Given the description of an element on the screen output the (x, y) to click on. 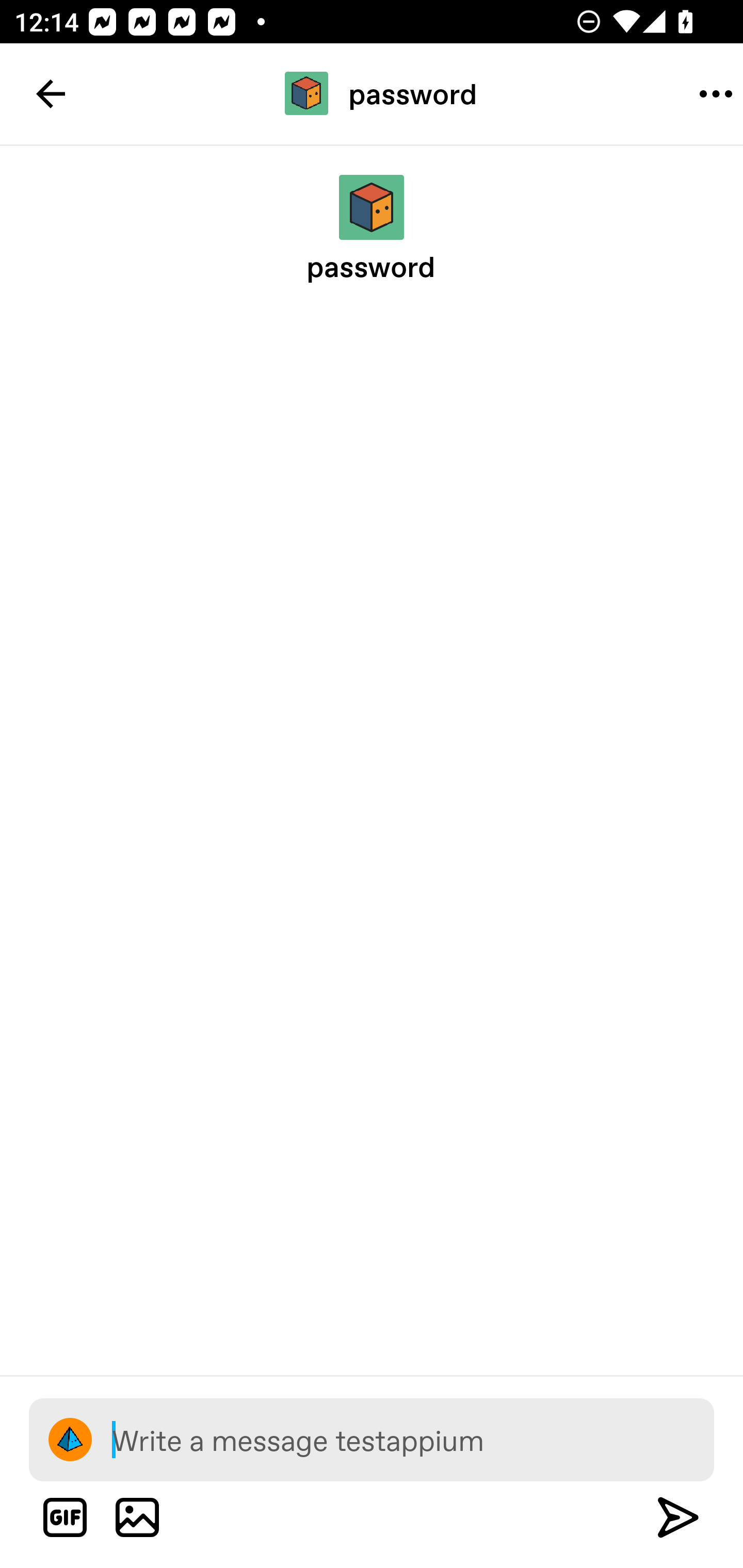
Navigate up (50, 93)
password (371, 92)
Write a message testappium (413, 1439)
